Given the description of an element on the screen output the (x, y) to click on. 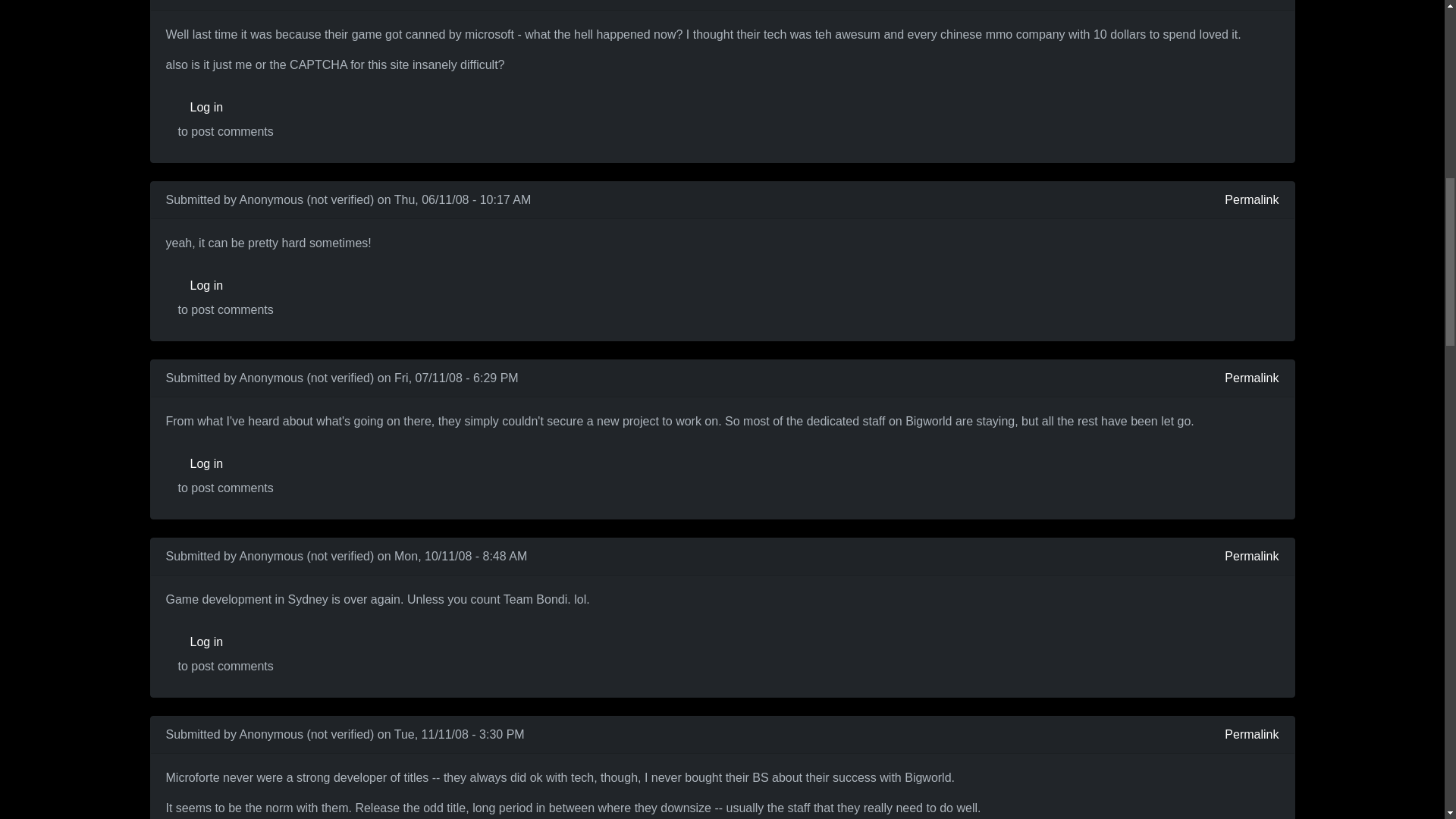
Log in (225, 463)
Permalink (1251, 734)
Permalink (1251, 0)
Log in (225, 286)
Shitizen Zero (213, 34)
No Project (203, 420)
Oh well (192, 599)
Log in (225, 642)
Permalink (1251, 199)
Log in (225, 107)
Permalink (1251, 378)
yeah, it can be pretty hard (260, 242)
Permalink (1251, 556)
